Given the description of an element on the screen output the (x, y) to click on. 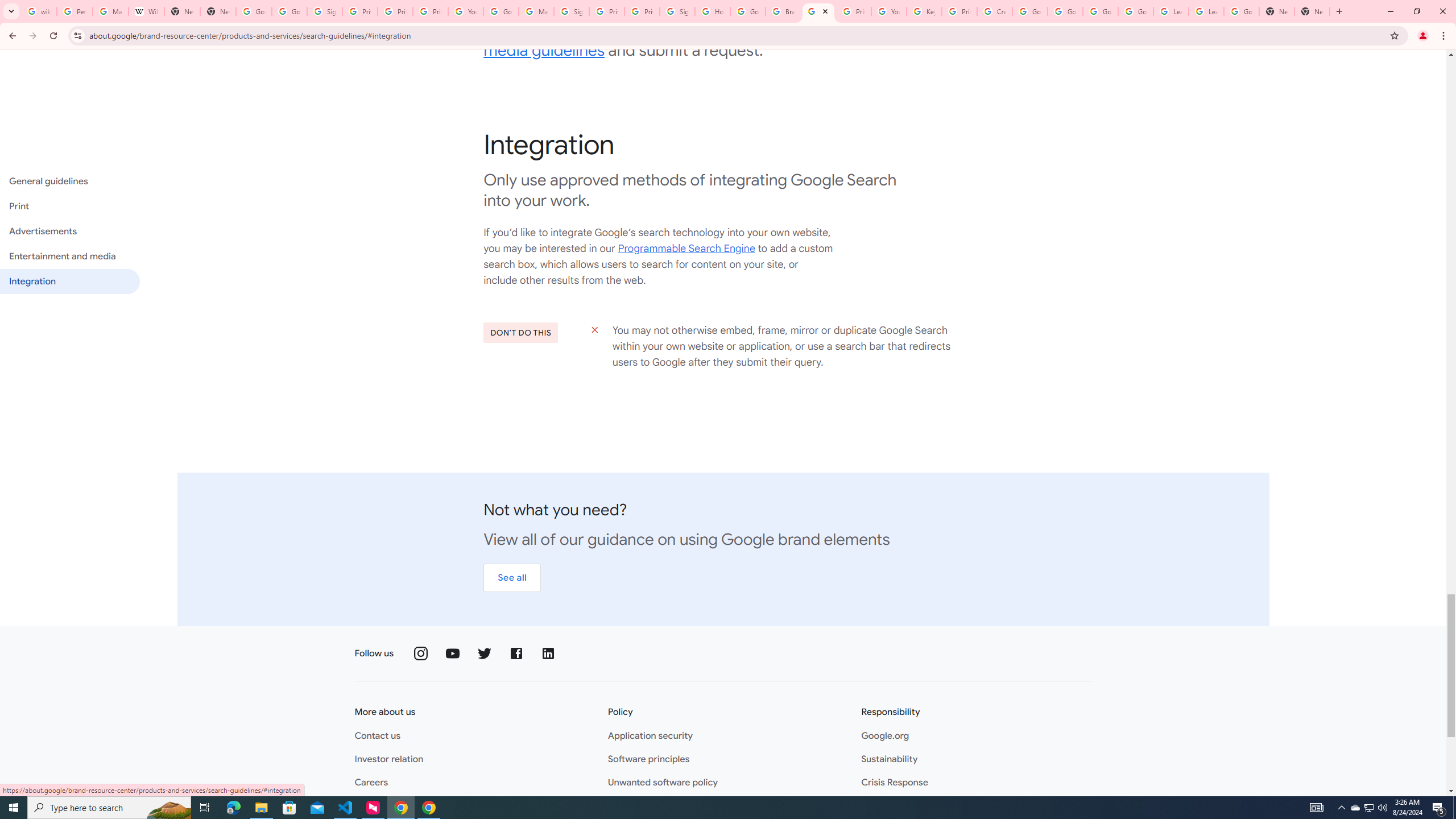
Follow us on Twitter (484, 653)
Careers (370, 782)
Sign in - Google Accounts (677, 11)
Create your Google Account (994, 11)
Sign in - Google Accounts (571, 11)
Sign in - Google Accounts (324, 11)
Crisis Response (894, 782)
See all (512, 577)
Personalization & Google Search results - Google Search Help (74, 11)
